Given the description of an element on the screen output the (x, y) to click on. 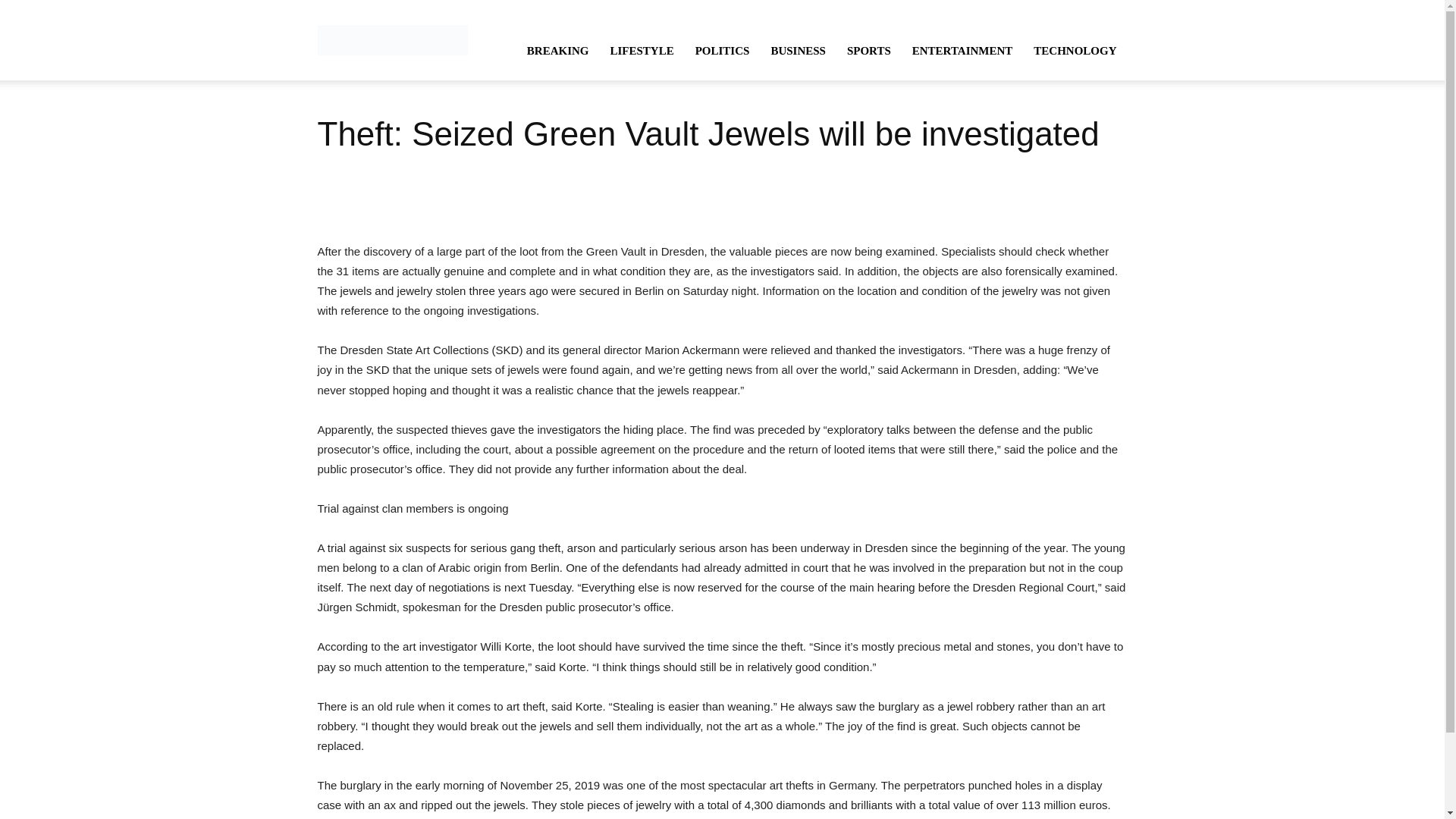
TECHNOLOGY (1074, 50)
Indo Newyork (392, 39)
LIFESTYLE (641, 50)
SPORTS (868, 50)
ENTERTAINMENT (962, 50)
BUSINESS (797, 50)
POLITICS (722, 50)
BREAKING (557, 50)
